Given the description of an element on the screen output the (x, y) to click on. 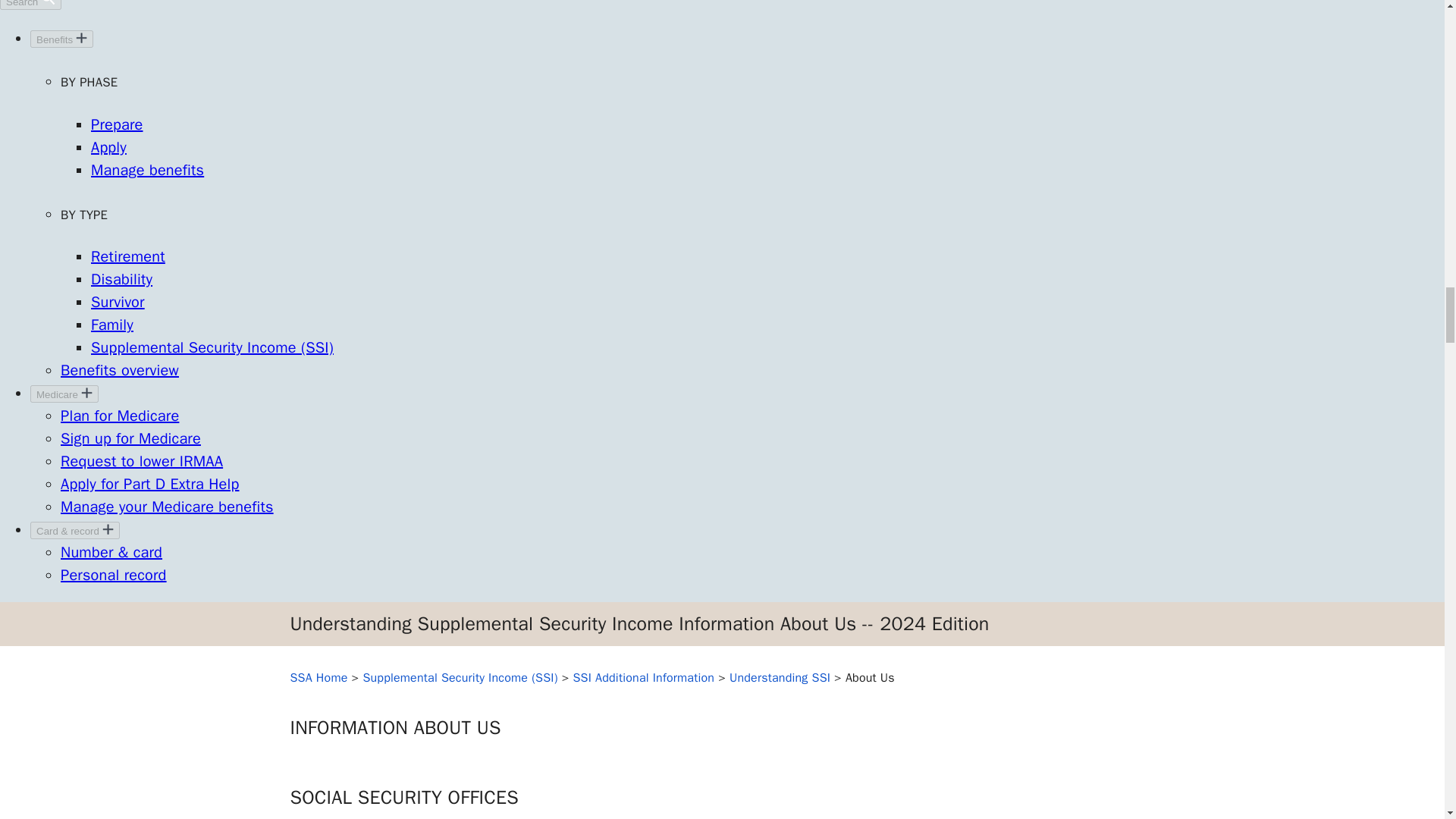
SSI Additional Information (643, 678)
Understanding SSI (779, 678)
SSA Home (318, 678)
